Given the description of an element on the screen output the (x, y) to click on. 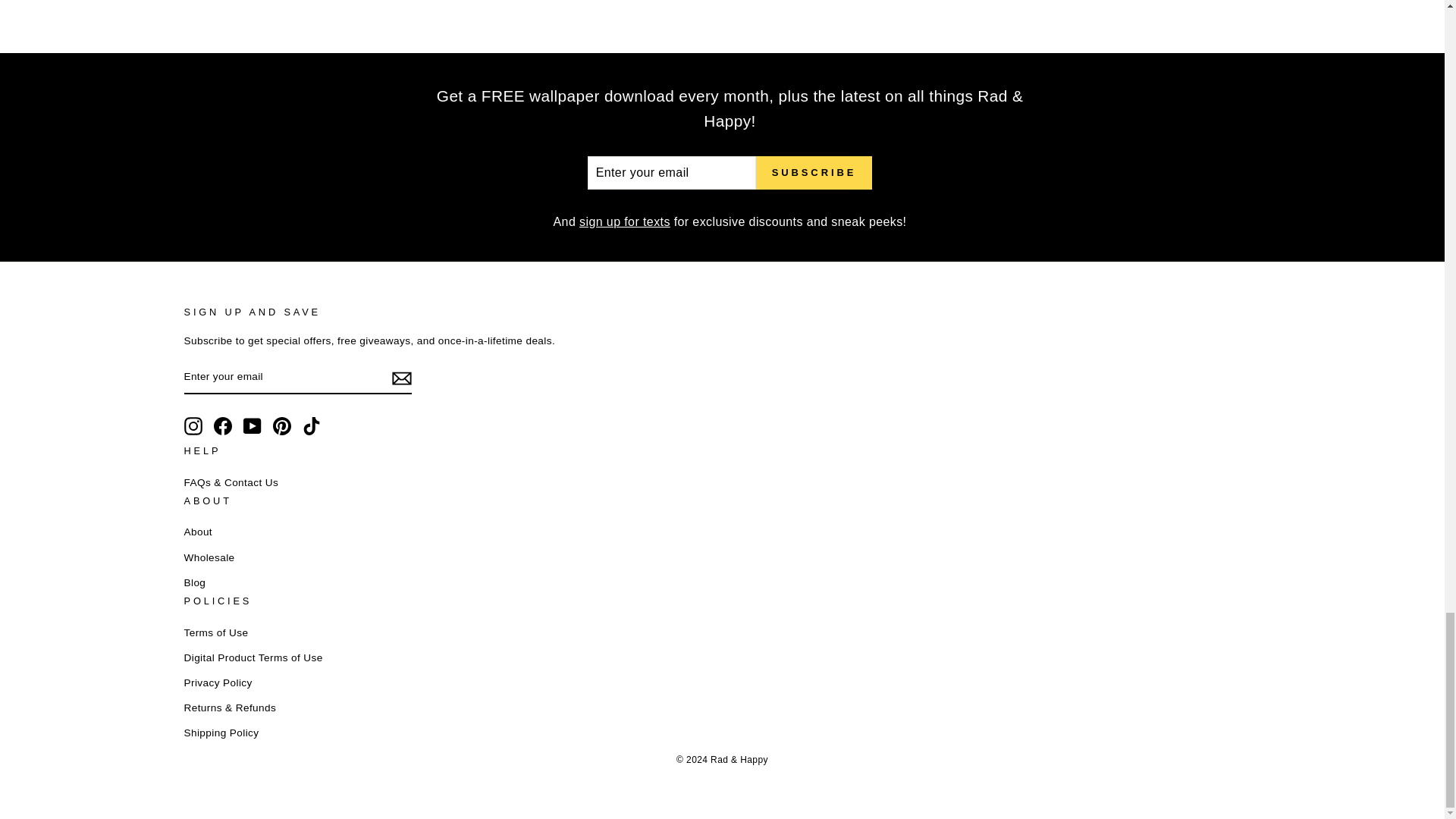
icon-email (400, 378)
